Given the description of an element on the screen output the (x, y) to click on. 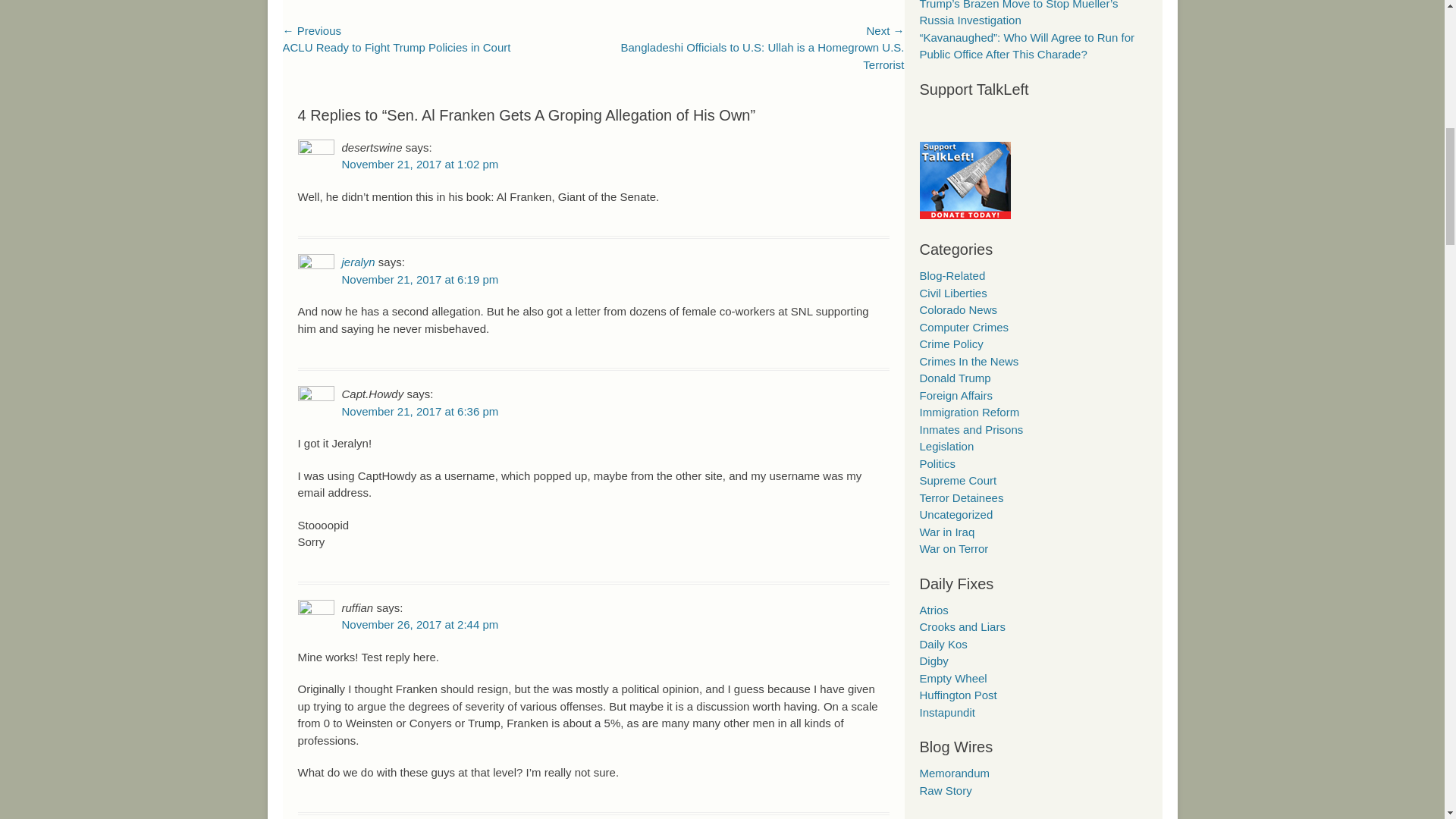
November 21, 2017 at 6:19 pm (418, 278)
Computer Crimes (963, 327)
Civil Liberties (952, 292)
November 26, 2017 at 2:44 pm (418, 624)
Blog-Related (951, 275)
jeralyn (357, 261)
Colorado News (957, 309)
Crime Policy (950, 343)
November 21, 2017 at 1:02 pm (418, 164)
November 21, 2017 at 6:36 pm (418, 410)
